Given the description of an element on the screen output the (x, y) to click on. 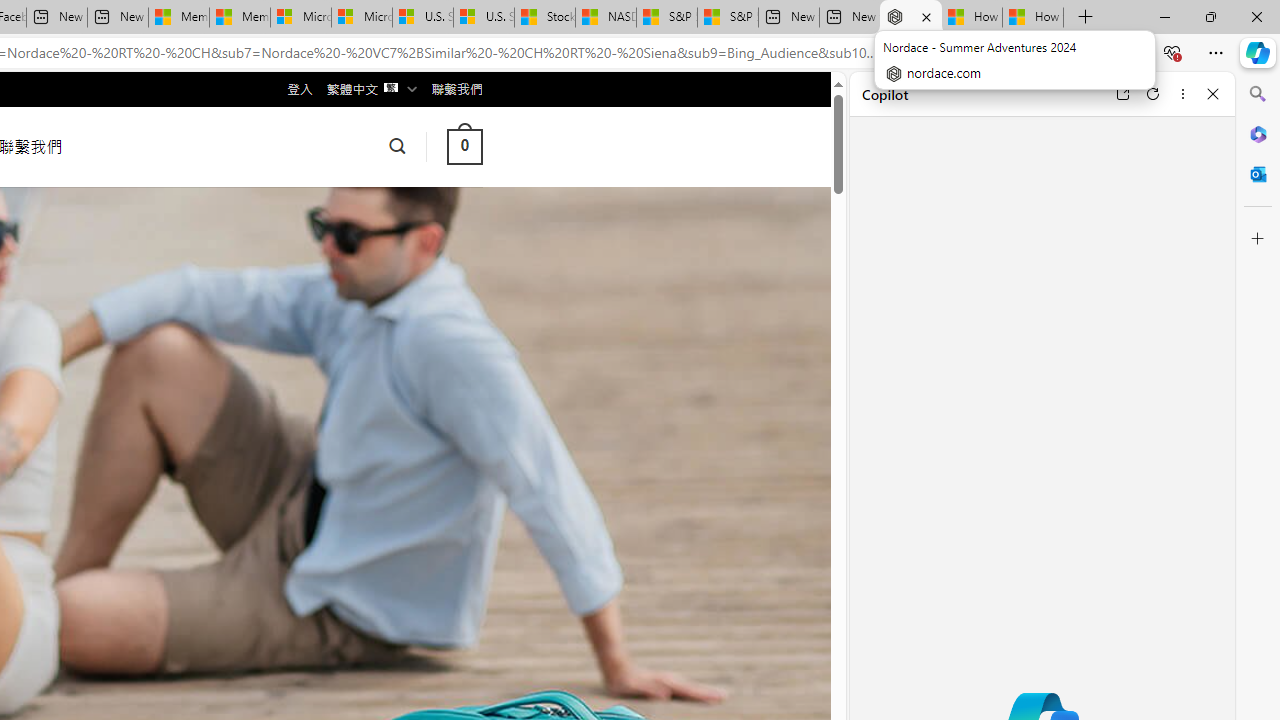
Customize (1258, 239)
S&P 500, Nasdaq end lower, weighed by Nvidia dip | Watch (727, 17)
Outlook (1258, 174)
